Given the description of an element on the screen output the (x, y) to click on. 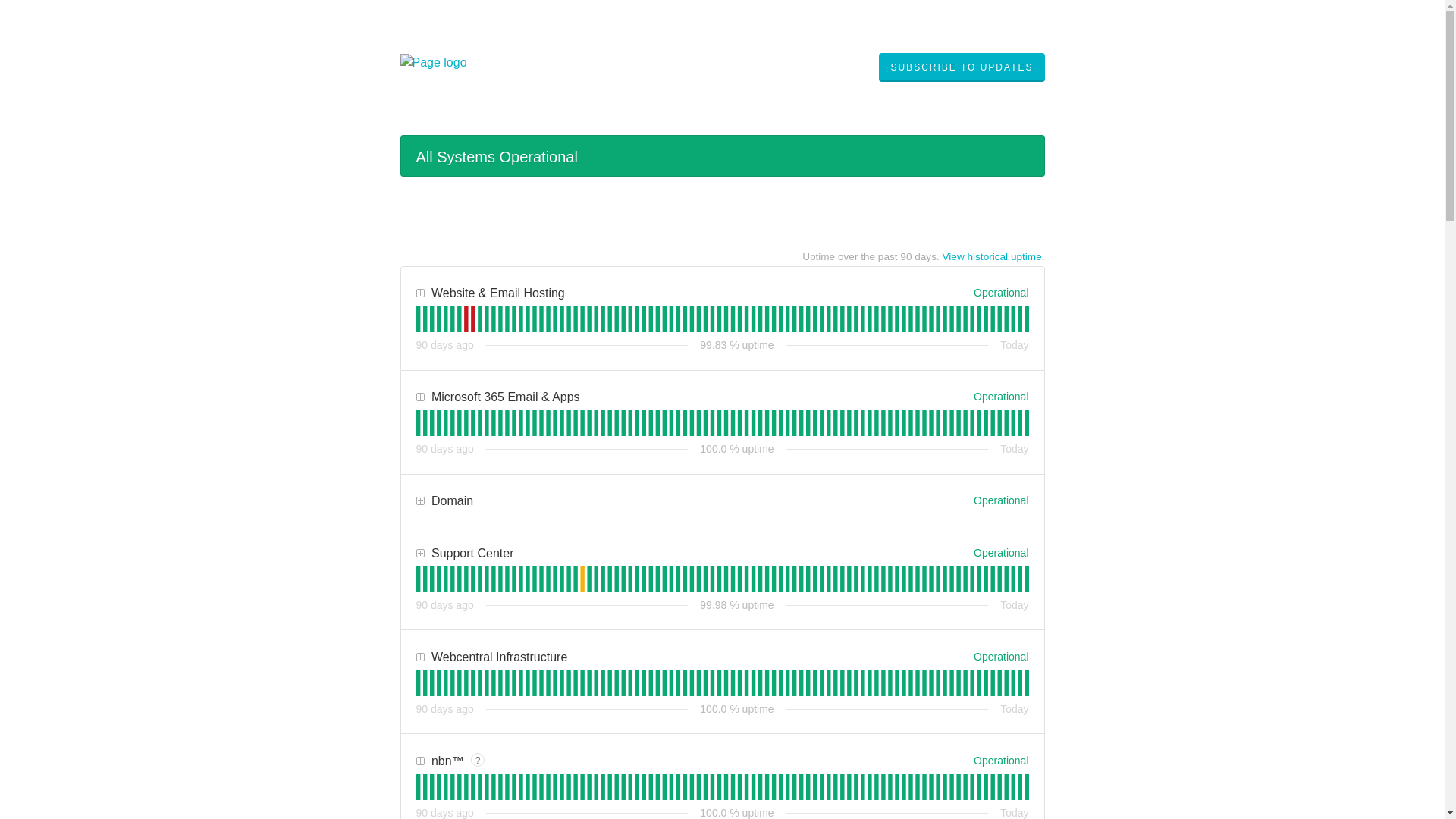
View historical uptime. Element type: text (992, 256)
